Given the description of an element on the screen output the (x, y) to click on. 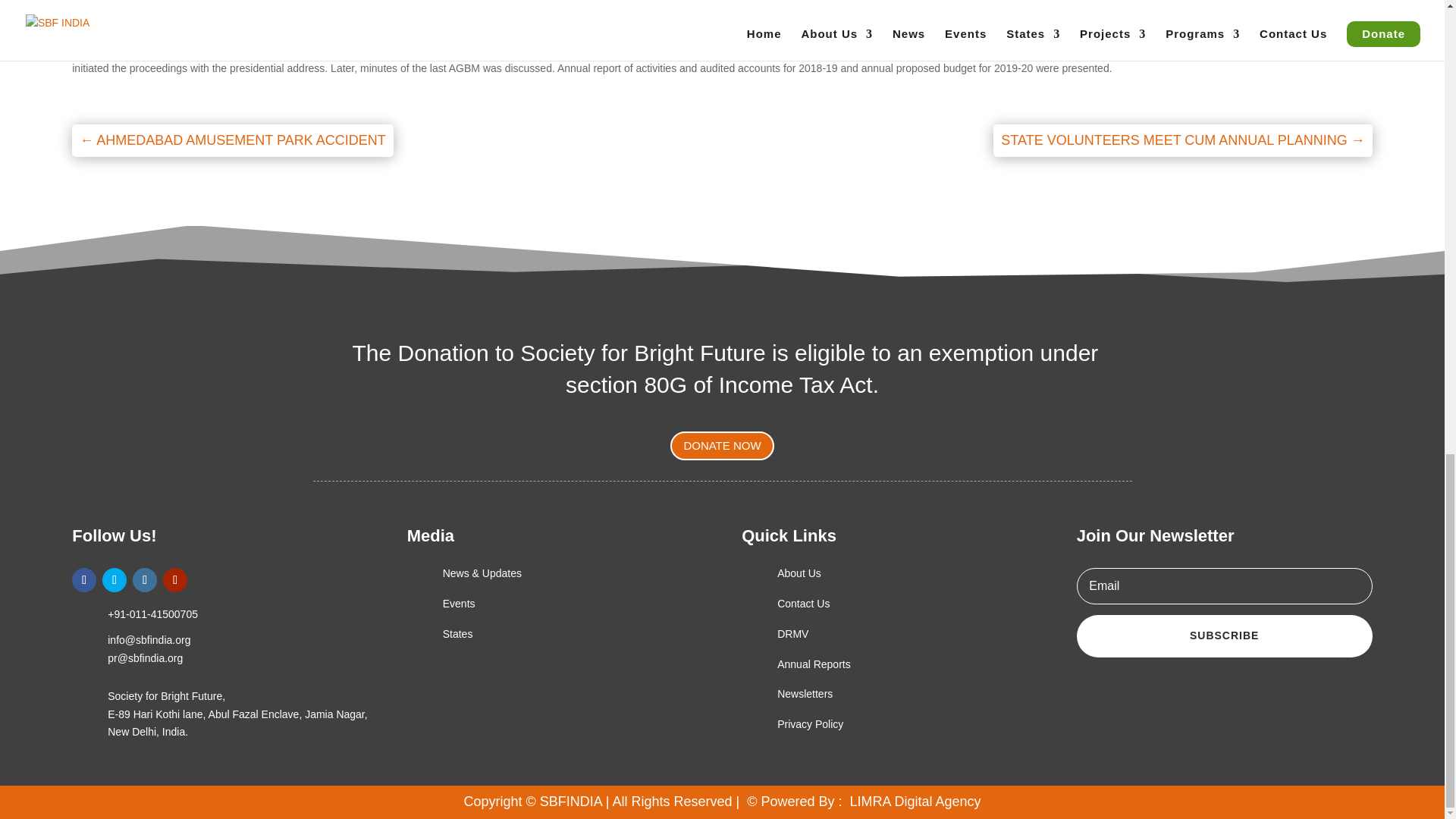
Follow on Facebook (83, 580)
Follow on Instagram (144, 580)
Follow on Youtube (175, 580)
DONATE NOW (721, 446)
Follow on Twitter (113, 580)
